Given the description of an element on the screen output the (x, y) to click on. 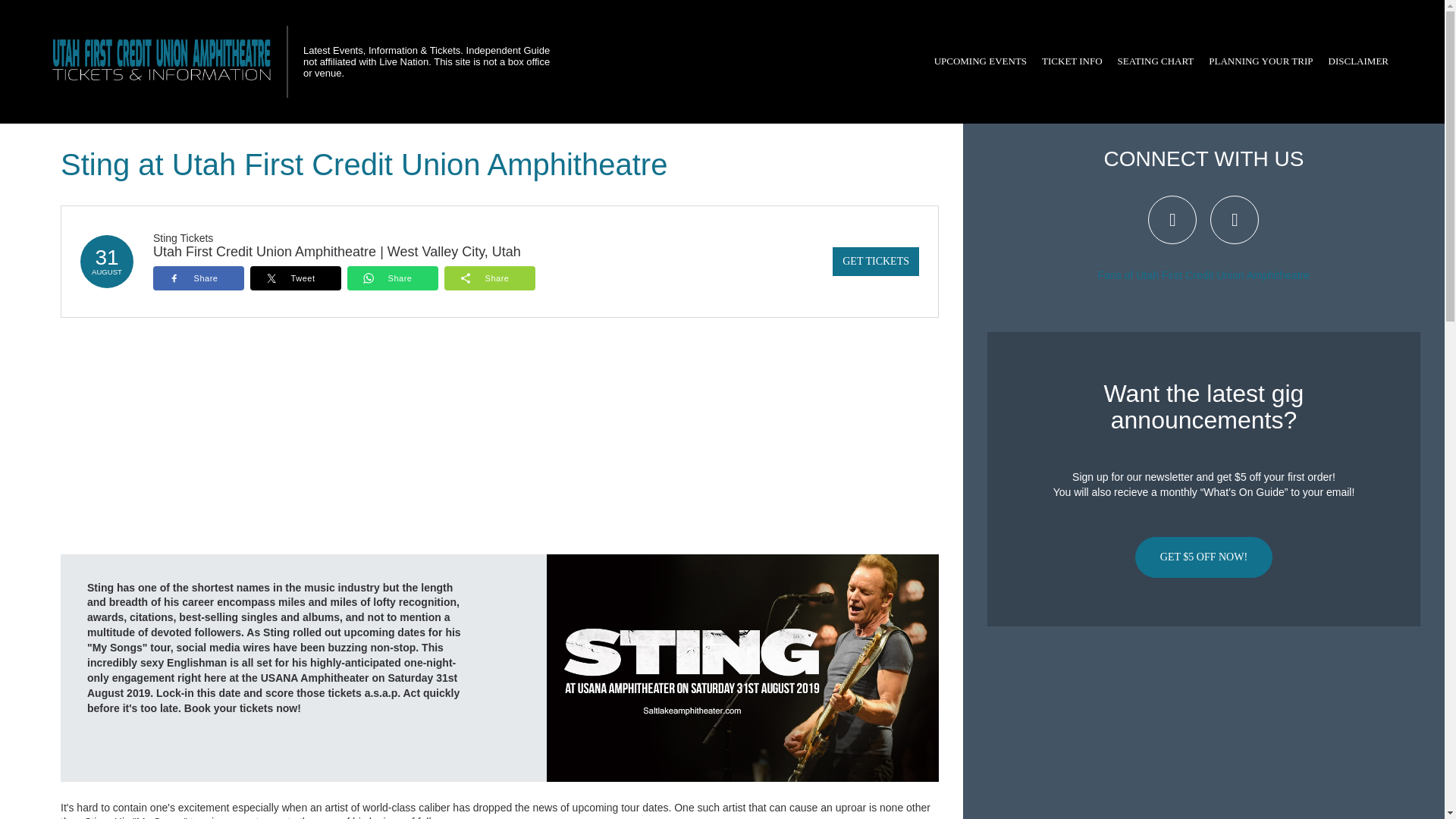
PLANNING YOUR TRIP (1260, 61)
GET TICKETS (875, 261)
Fans of Utah First Credit Union Amphitheatre (1202, 275)
TICKET INFO (1071, 61)
Advertisement (1204, 728)
SEATING CHART (1155, 61)
DISCLAIMER (1358, 61)
Sting Tickets (182, 237)
UPCOMING EVENTS (979, 61)
Sting at USANA Amphitheater (743, 667)
